Given the description of an element on the screen output the (x, y) to click on. 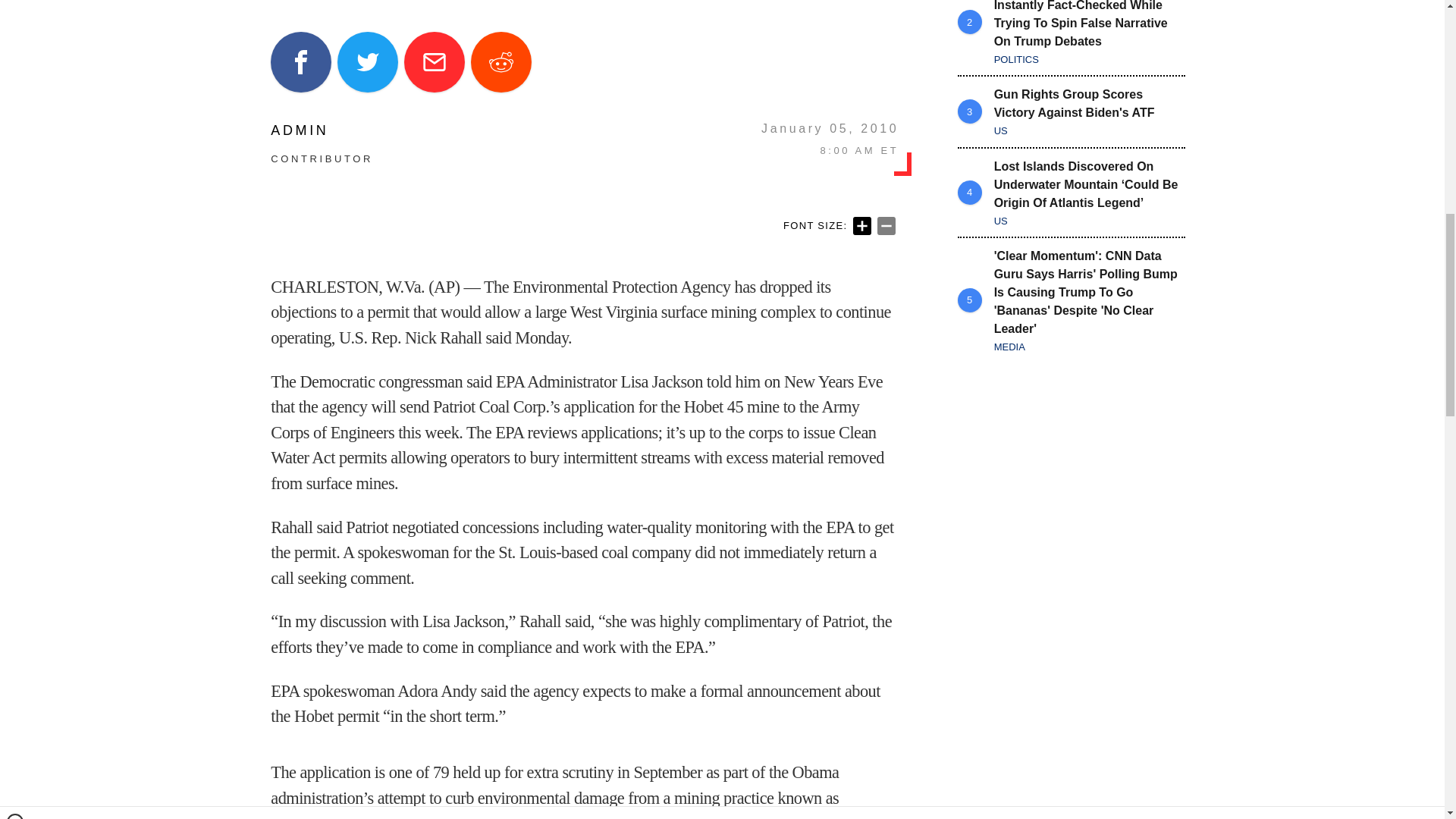
ADMIN (321, 130)
View More Articles By admin (321, 130)
Close window (14, 6)
